Given the description of an element on the screen output the (x, y) to click on. 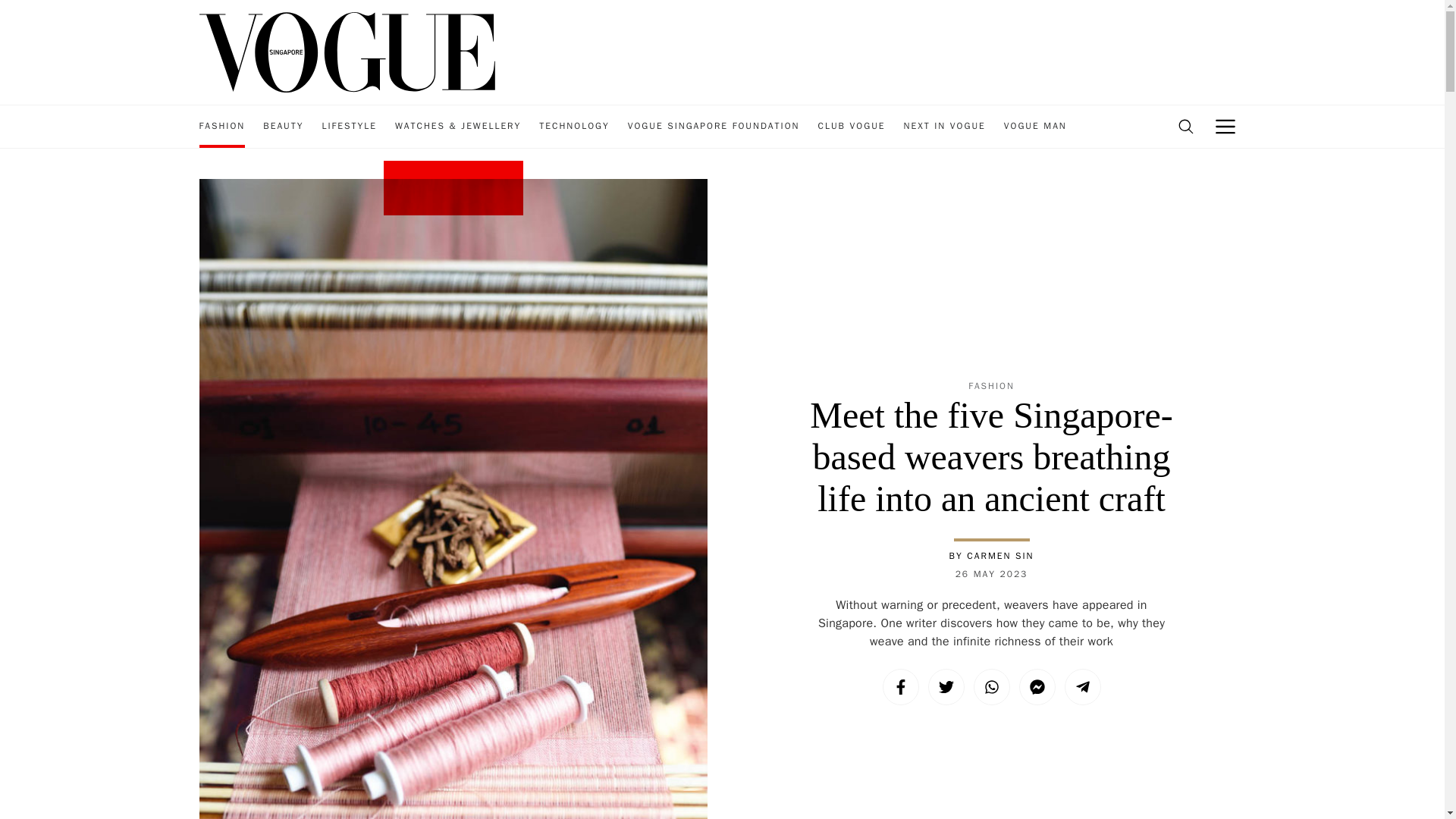
Vogue Singapore (346, 51)
Facebook (900, 687)
CLUB VOGUE (850, 126)
Telegram (1082, 687)
Facebook Messender (1037, 687)
BEAUTY (282, 126)
Open Search (1185, 126)
CARMEN SIN (999, 555)
FASHION (221, 126)
Twitter (945, 687)
